Given the description of an element on the screen output the (x, y) to click on. 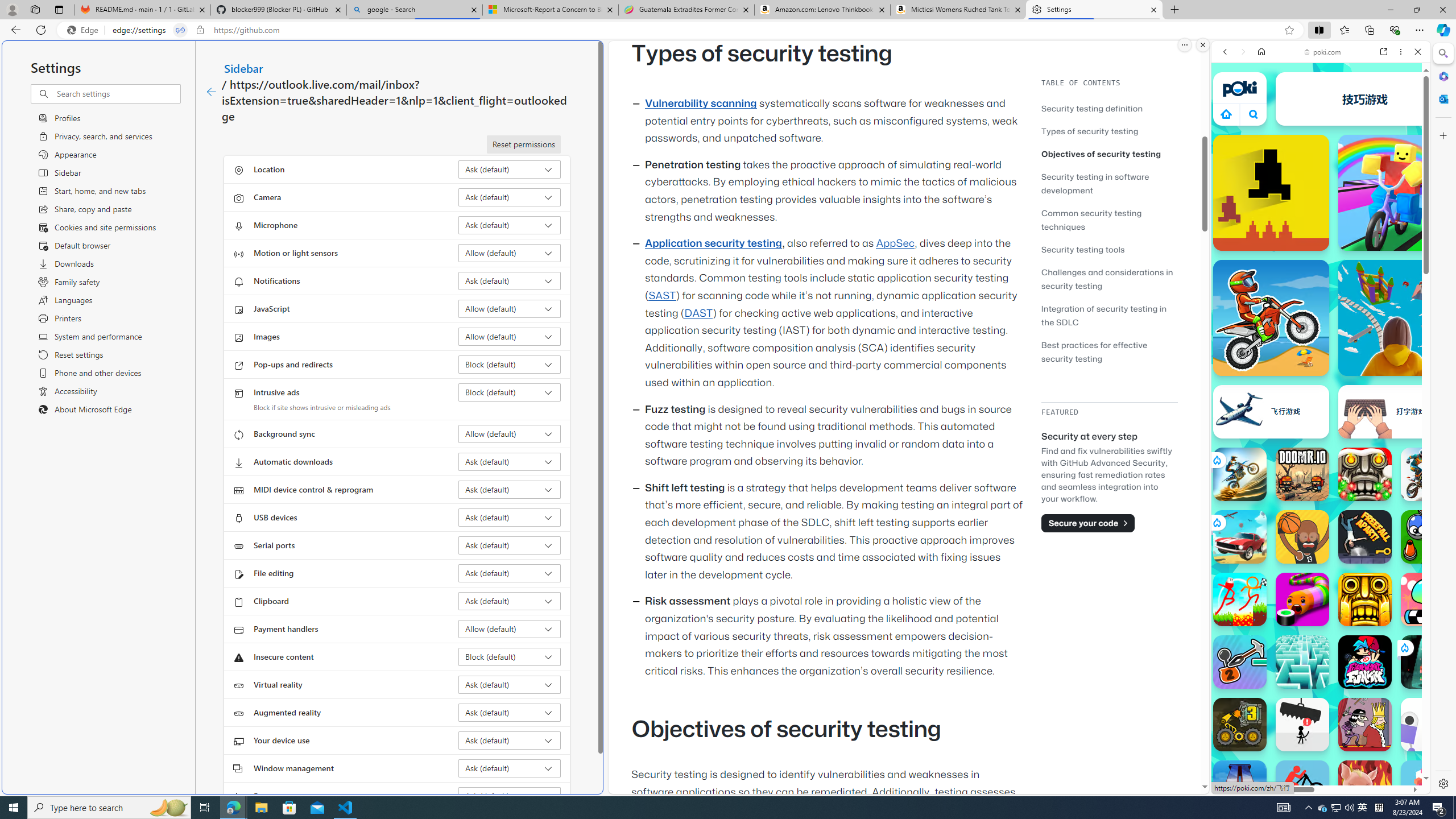
Security testing in software development (1109, 183)
Secure your code (1088, 522)
Show More Games for Girls (1390, 407)
BoxRob 3 BoxRob 3 (1239, 724)
Stickman Parkour 3 Stickman Parkour 3 (1239, 599)
MIDI device control & reprogram Ask (default) (509, 489)
More options. (1183, 45)
Odd Bot Out Odd Bot Out (1427, 724)
Goal Training Goal Training (1427, 536)
Freefall Apart Freefall Apart (1364, 536)
Dunkers 2 (1302, 536)
Class: aprWdaSScyiJf4Jvmsx9 (1225, 113)
Challenges and considerations in security testing (1107, 278)
